Given the description of an element on the screen output the (x, y) to click on. 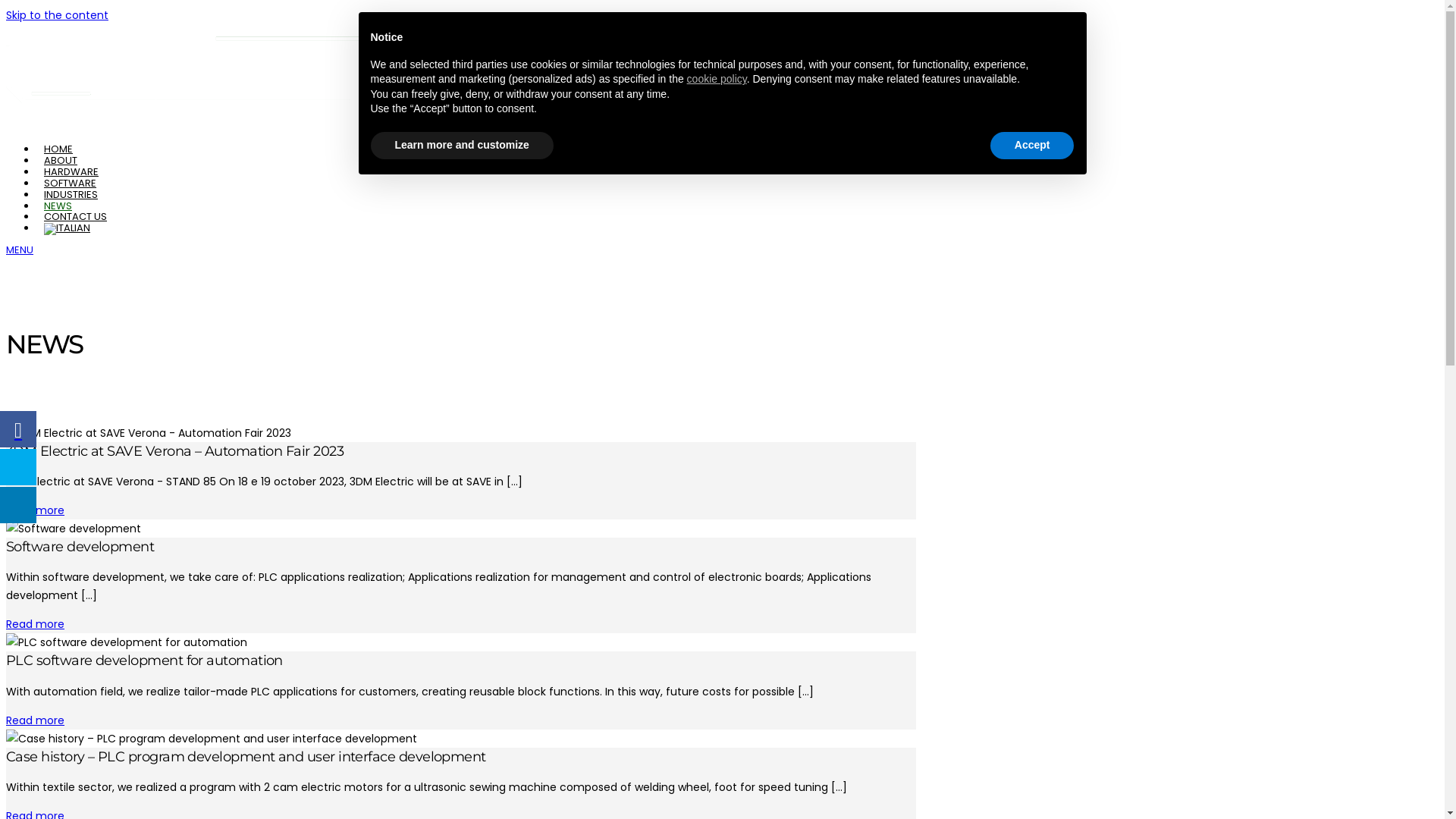
Learn more and customize Element type: text (461, 145)
NEWS Element type: text (57, 205)
HARDWARE Element type: text (70, 171)
Skip to the content Element type: text (57, 14)
Read more Element type: text (35, 509)
Read more Element type: text (35, 720)
Accept Element type: text (1032, 145)
HOME Element type: text (57, 148)
MENU Element type: text (19, 249)
INDUSTRIES Element type: text (70, 194)
Read more Element type: text (35, 623)
CONTACT US Element type: text (74, 216)
cookie policy Element type: text (716, 78)
SOFTWARE Element type: text (69, 182)
ABOUT Element type: text (60, 160)
